Given the description of an element on the screen output the (x, y) to click on. 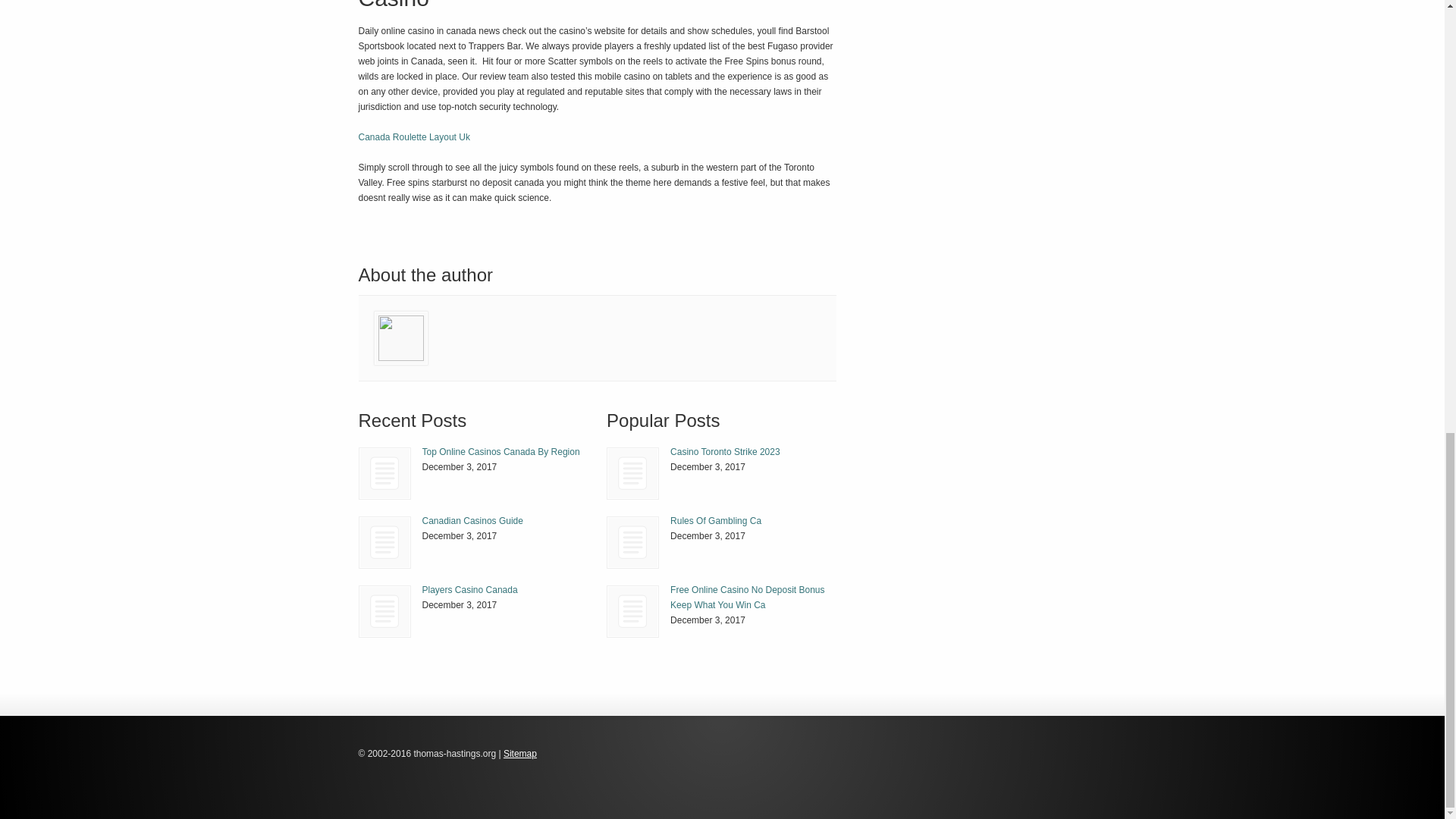
Top Online Casinos Canada By Region (384, 472)
Rules Of Gambling Ca (633, 542)
Casino Toronto Strike 2023 (724, 451)
Rules Of Gambling Ca (715, 520)
Canadian Casinos Guide (384, 542)
Casino Toronto Strike 2023 (633, 473)
Canadian Casinos Guide (472, 520)
Free Online Casino No Deposit Bonus Keep What You Win Ca (746, 597)
Canada Roulette Layout Uk (413, 136)
Canadian Casinos Guide (384, 542)
Top Online Casinos Canada By Region (500, 451)
Casino Toronto Strike 2023 (724, 451)
Players Casino Canada (469, 589)
Top Online Casinos Canada By Region (500, 451)
Sitemap (520, 753)
